Given the description of an element on the screen output the (x, y) to click on. 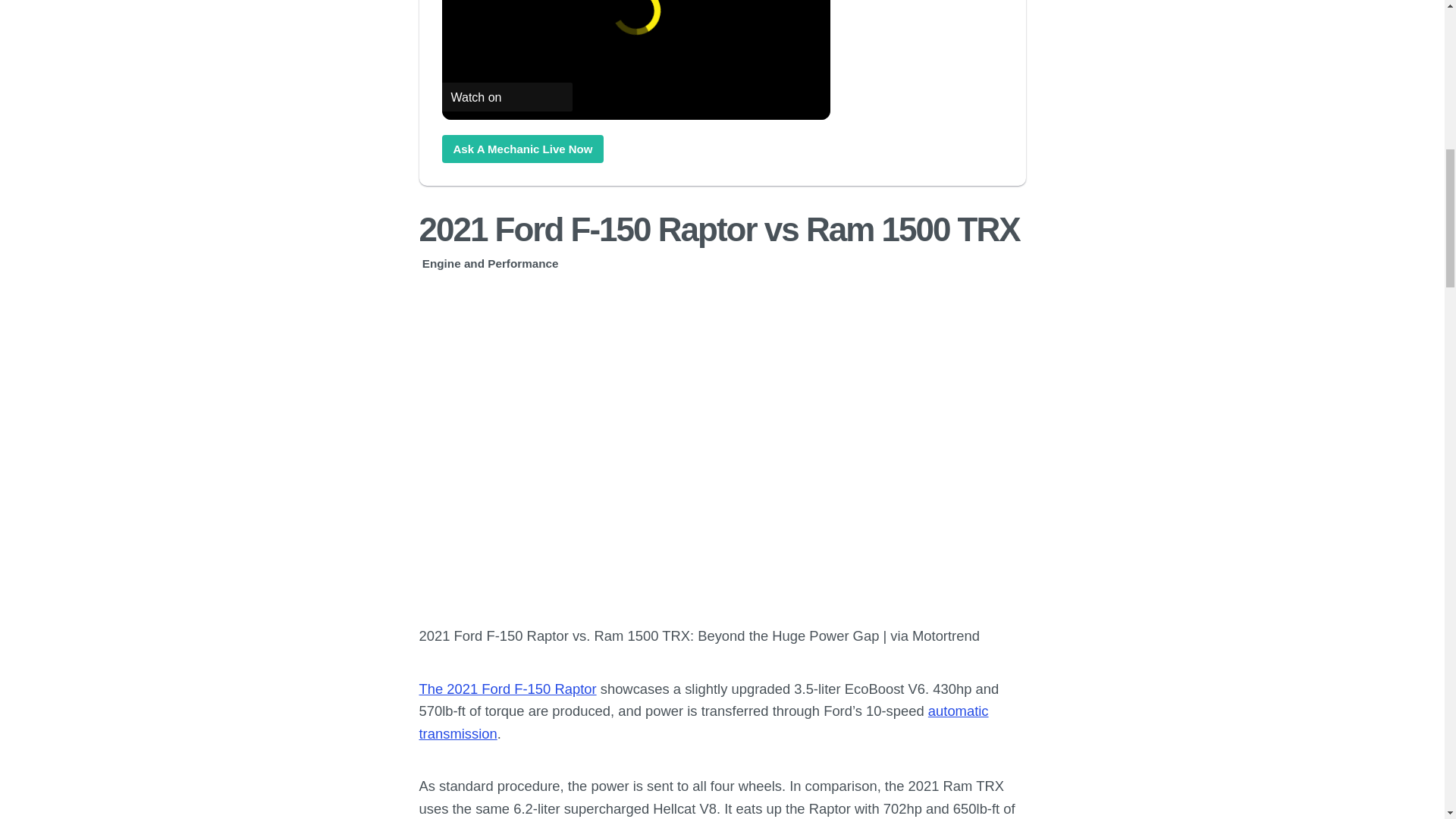
Chat With A Mechanic Online (522, 148)
The 2021 Ford F-150 Raptor (507, 688)
Watch on (506, 96)
automatic transmission (703, 721)
Ask A Mechanic Live Now (522, 148)
